Given the description of an element on the screen output the (x, y) to click on. 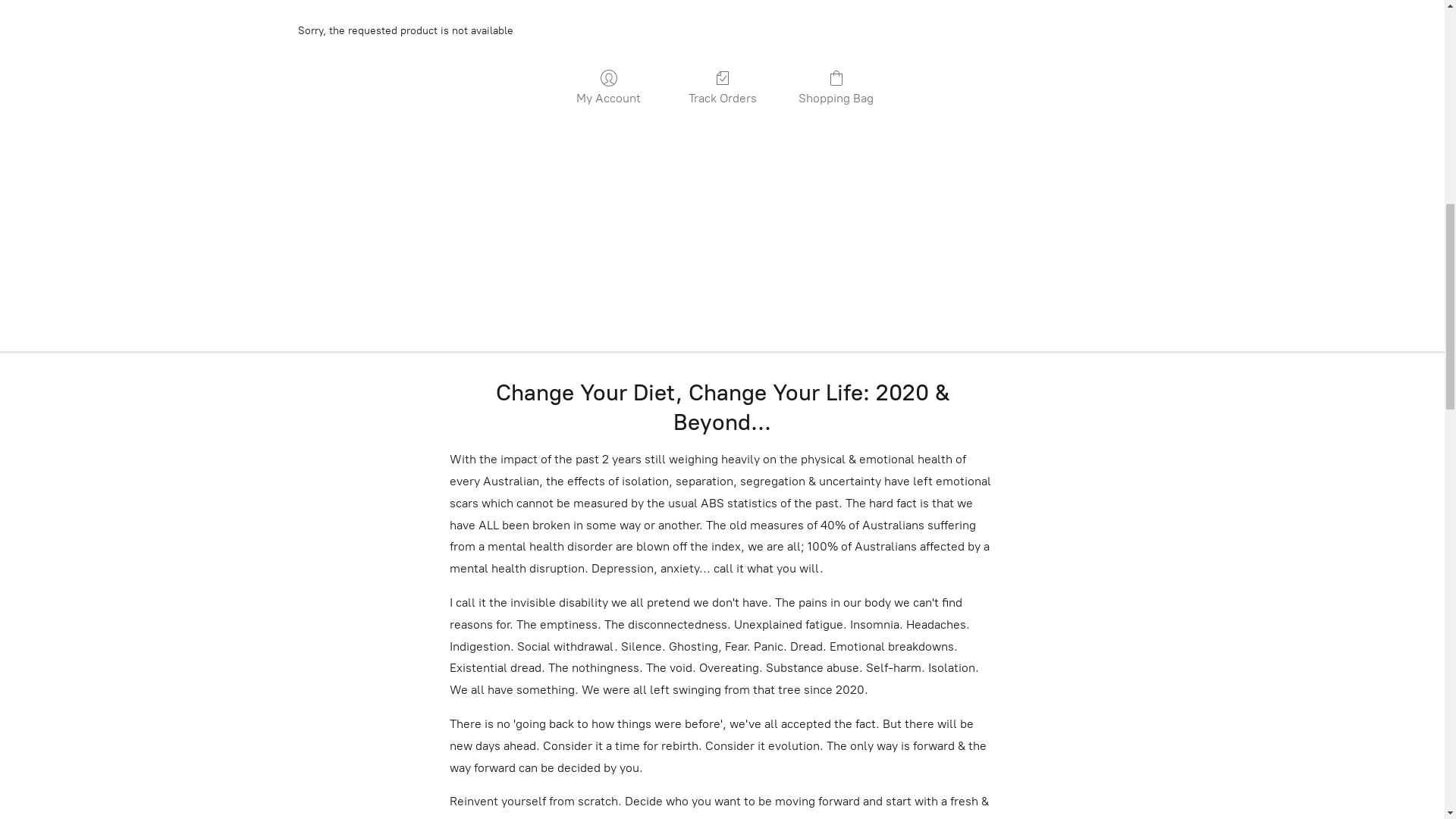
eBooks Element type: text (756, 747)
Dee's Articles of Interest Element type: text (620, 747)
Consultations Element type: text (857, 747)
